Given the description of an element on the screen output the (x, y) to click on. 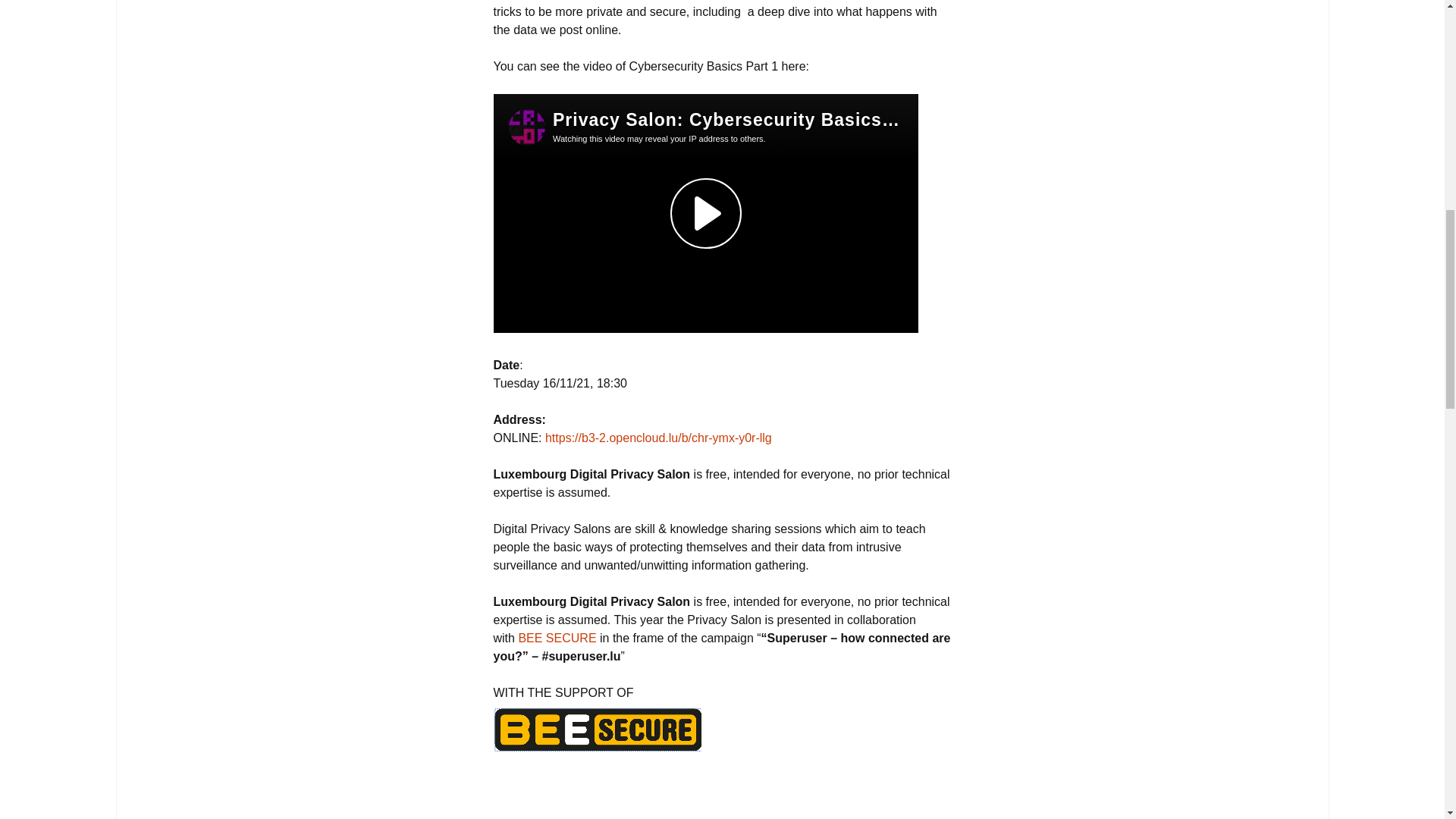
BEE SECURE (556, 637)
